Given the description of an element on the screen output the (x, y) to click on. 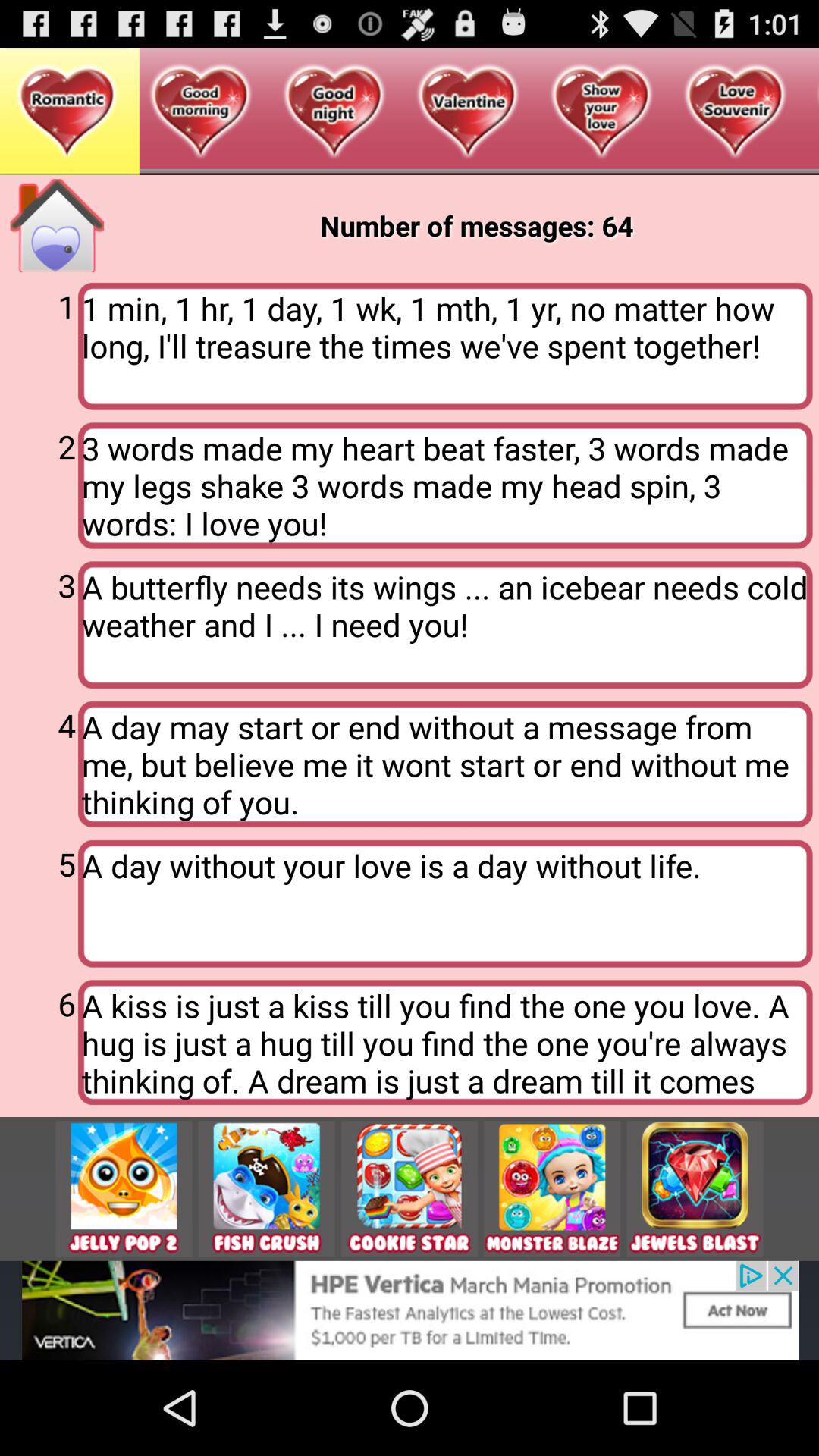
select this tile (123, 1188)
